Given the description of an element on the screen output the (x, y) to click on. 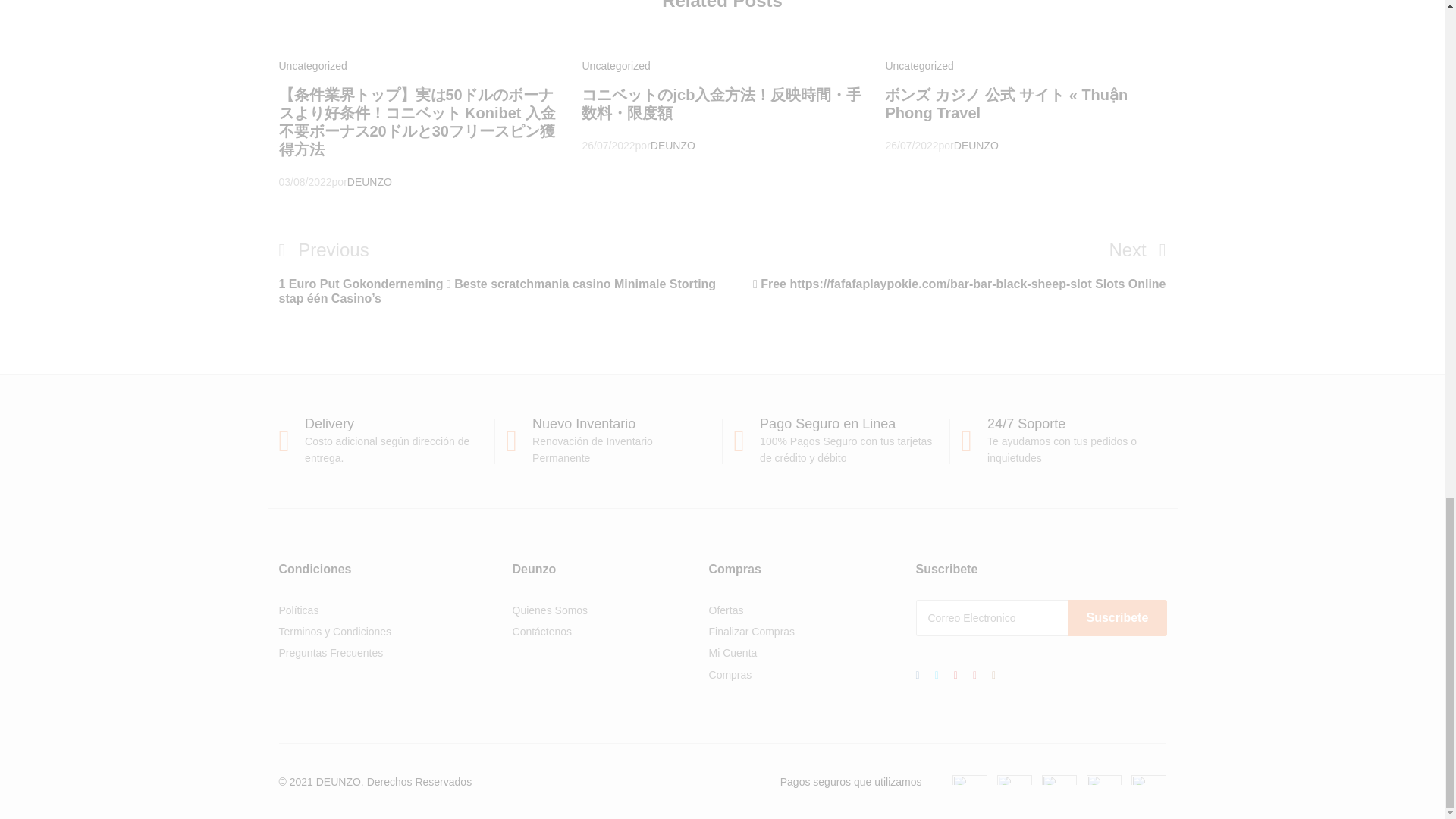
Suscribete (1117, 617)
Google Plus (955, 674)
Twitter (936, 674)
Instagram (993, 674)
Youtube (974, 674)
Facebook (917, 674)
